Given the description of an element on the screen output the (x, y) to click on. 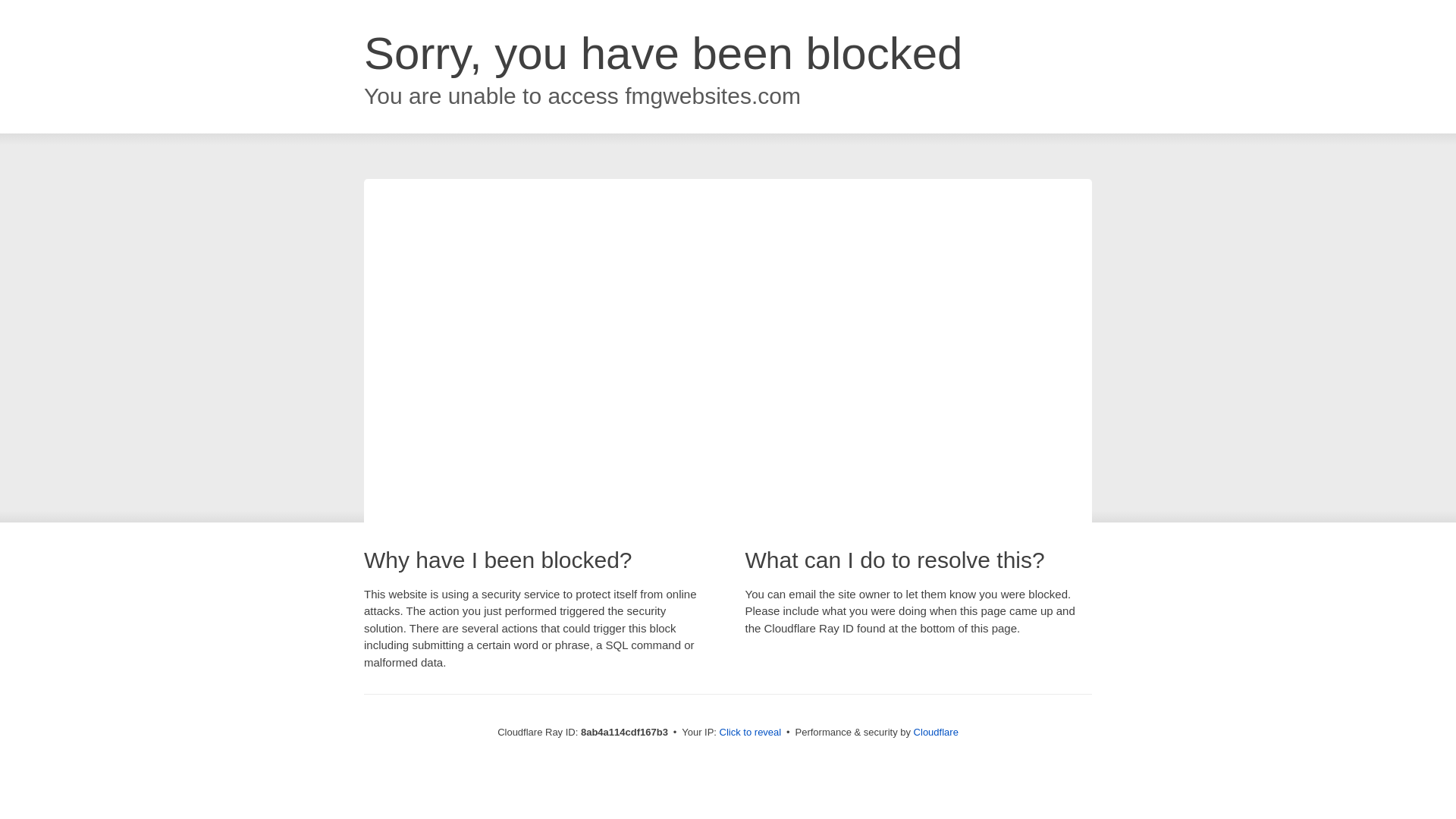
Cloudflare (936, 731)
Click to reveal (750, 732)
